Given the description of an element on the screen output the (x, y) to click on. 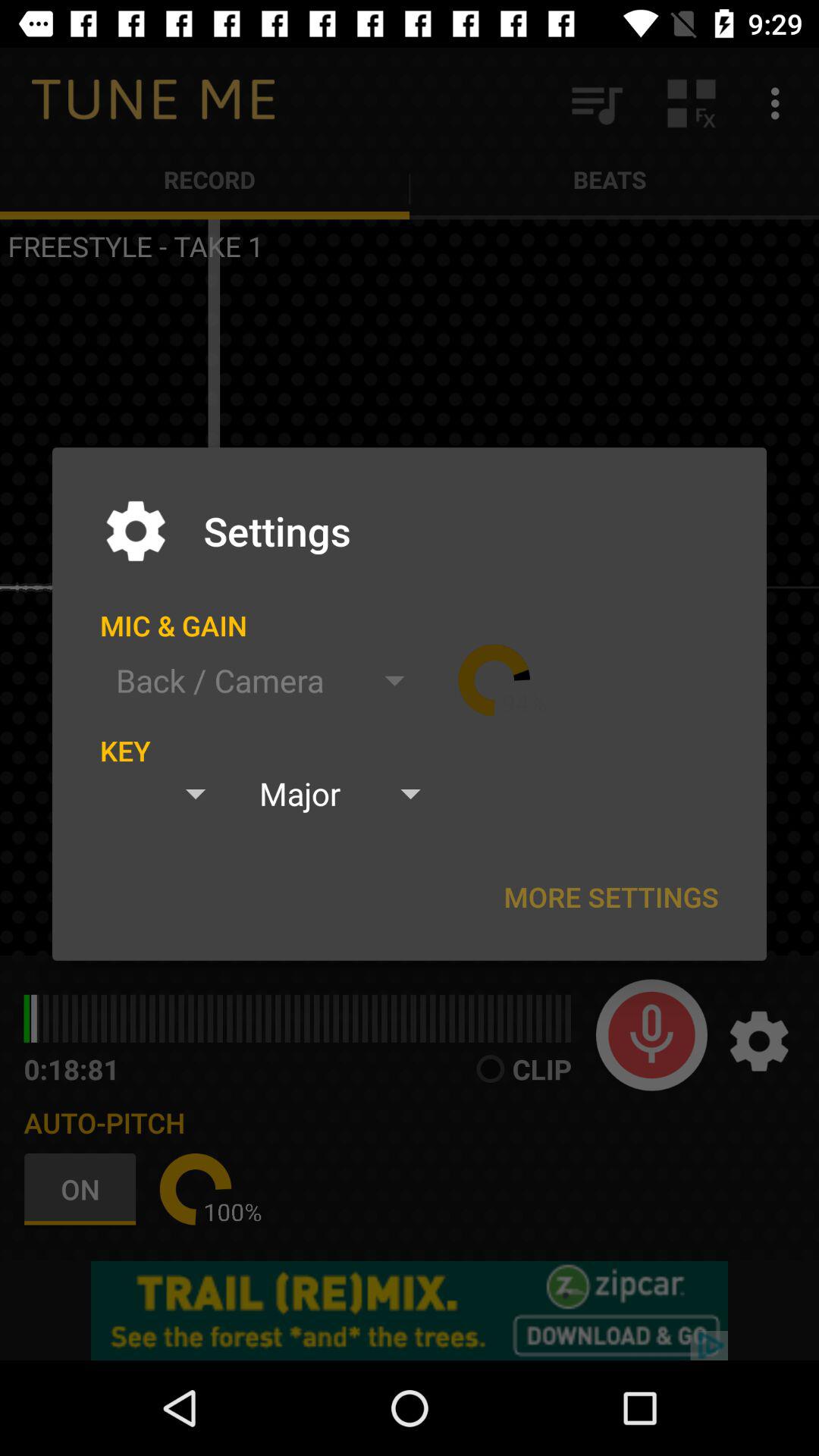
choose the app above beats app (779, 103)
